Given the description of an element on the screen output the (x, y) to click on. 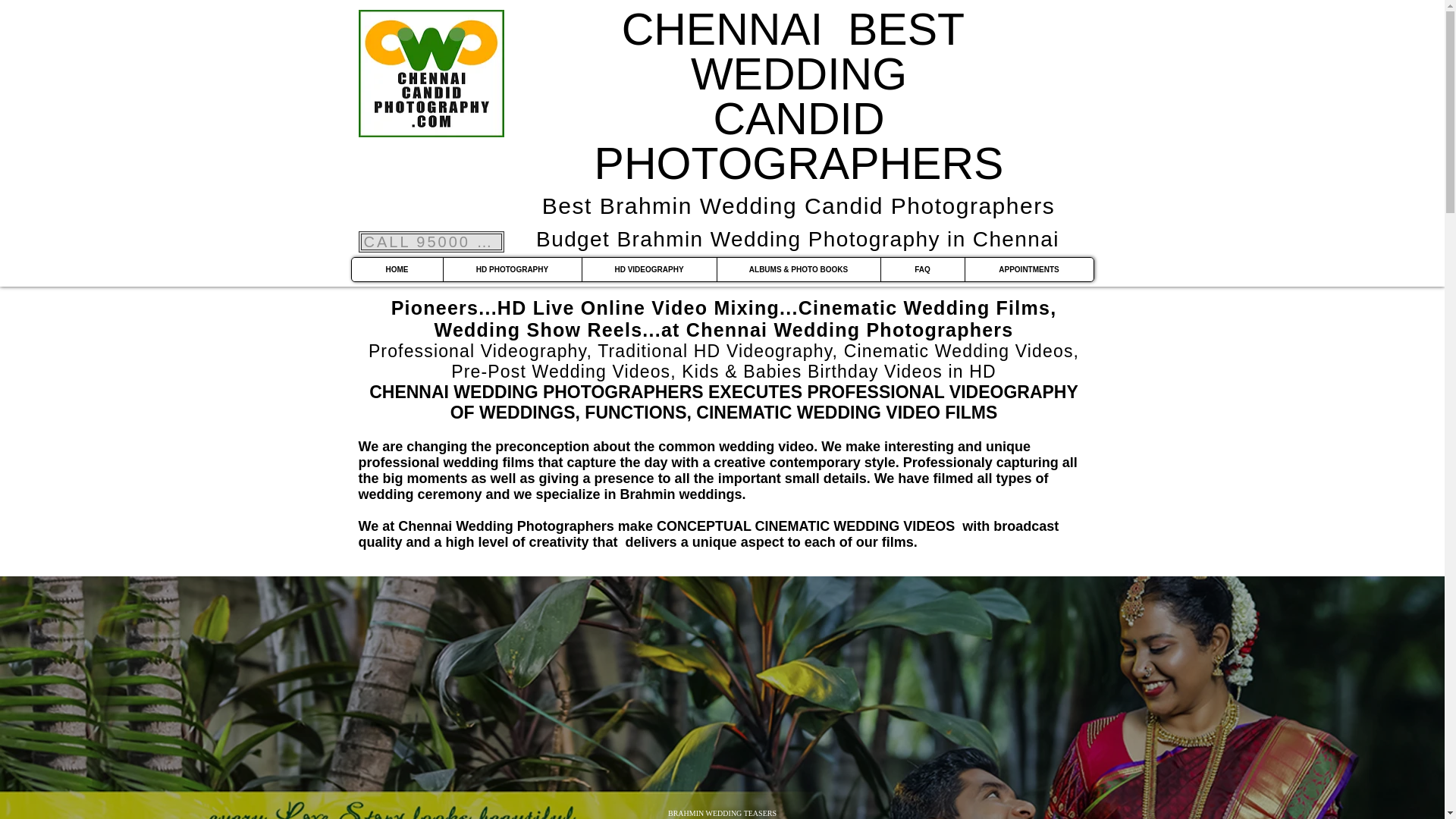
BRAHMIN WEDDING TEASERS (721, 813)
CALL 95000 95581 (430, 241)
APPOINTMENTS (1028, 269)
HOME (397, 269)
FAQ (921, 269)
